Given the description of an element on the screen output the (x, y) to click on. 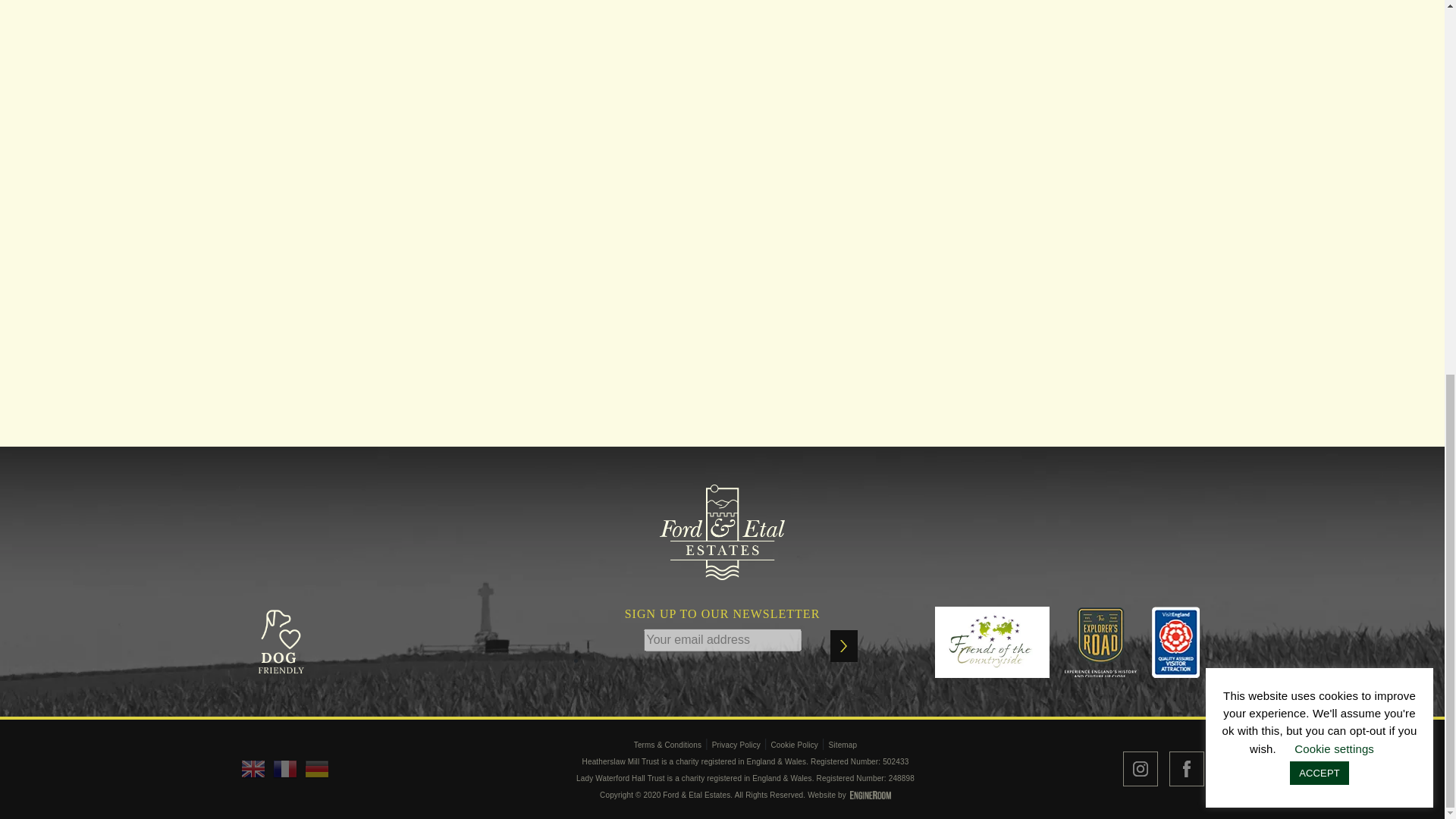
French (285, 768)
English (252, 768)
Subscribe (843, 645)
German (316, 768)
